Given the description of an element on the screen output the (x, y) to click on. 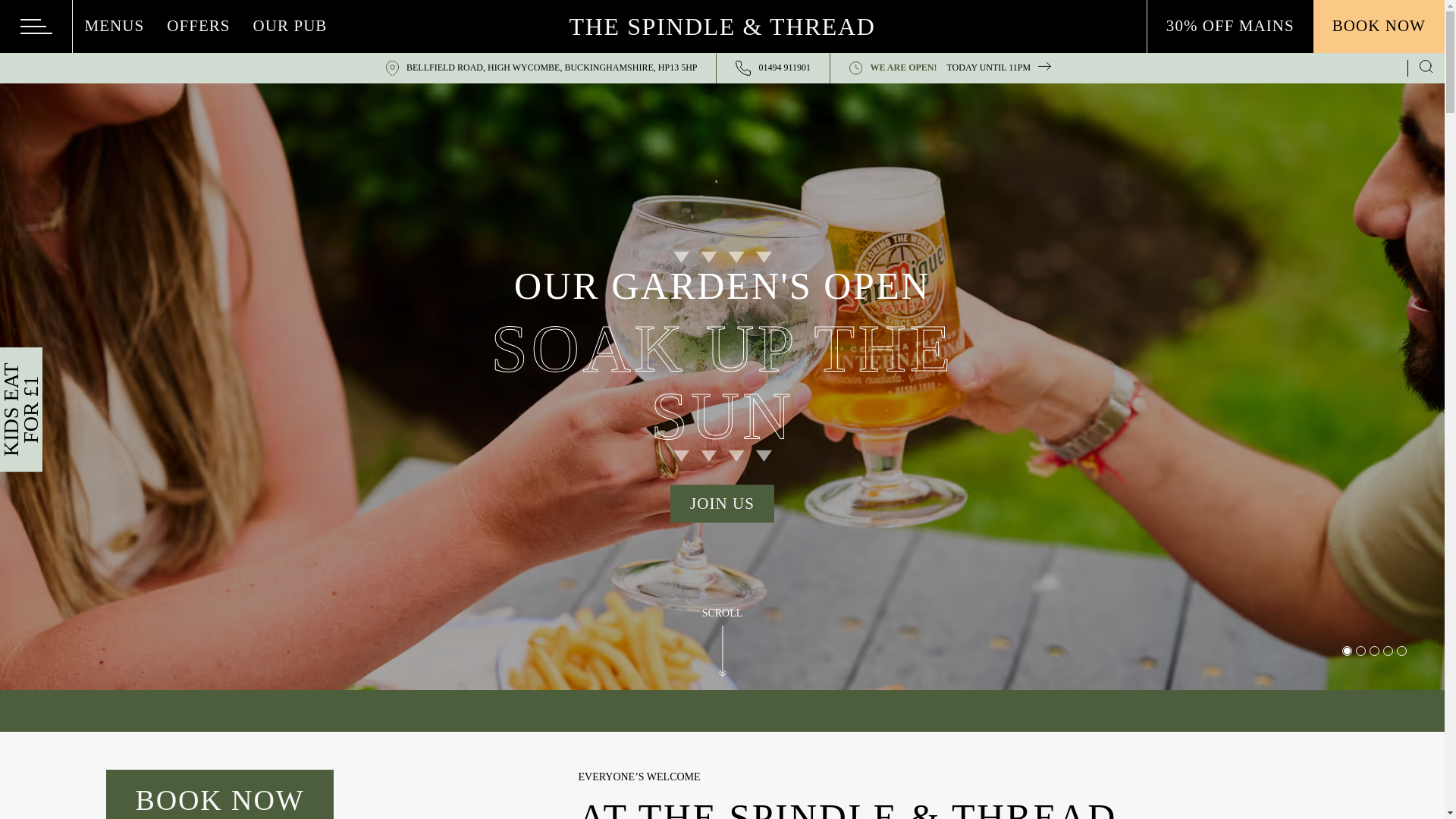
Telephone Icon (743, 68)
JOIN US (721, 503)
OUR PUB (290, 29)
Clock Icon (36, 26)
01494 911901 (854, 67)
MENUS (772, 68)
OFFERS (114, 29)
WE ARE OPEN! TODAY UNTIL 11PM (198, 29)
Set of Triangles Icon (963, 68)
